Given the description of an element on the screen output the (x, y) to click on. 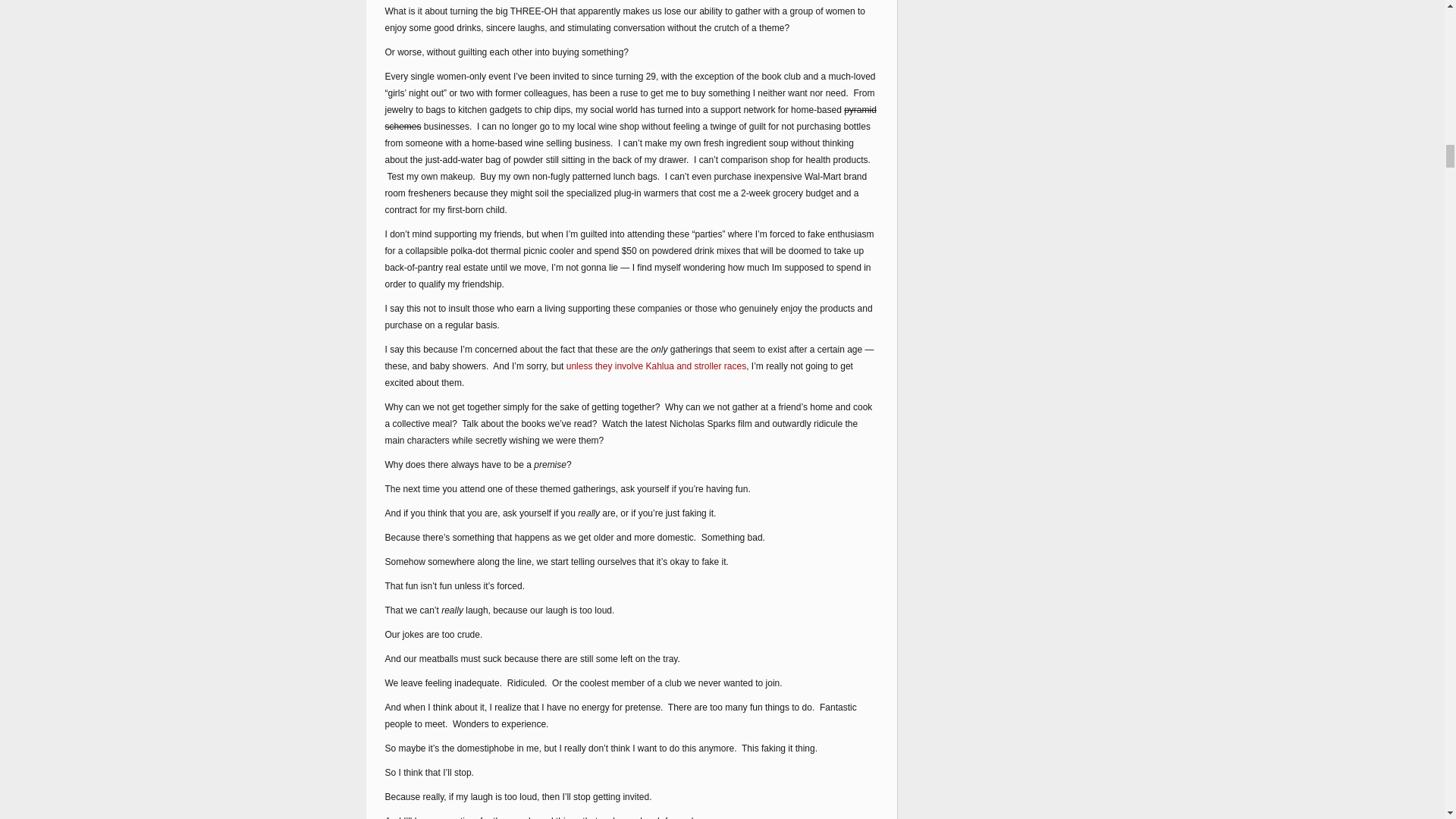
8 Simple Rules for Throwing a Baby Hot Tub Party (655, 366)
